Given the description of an element on the screen output the (x, y) to click on. 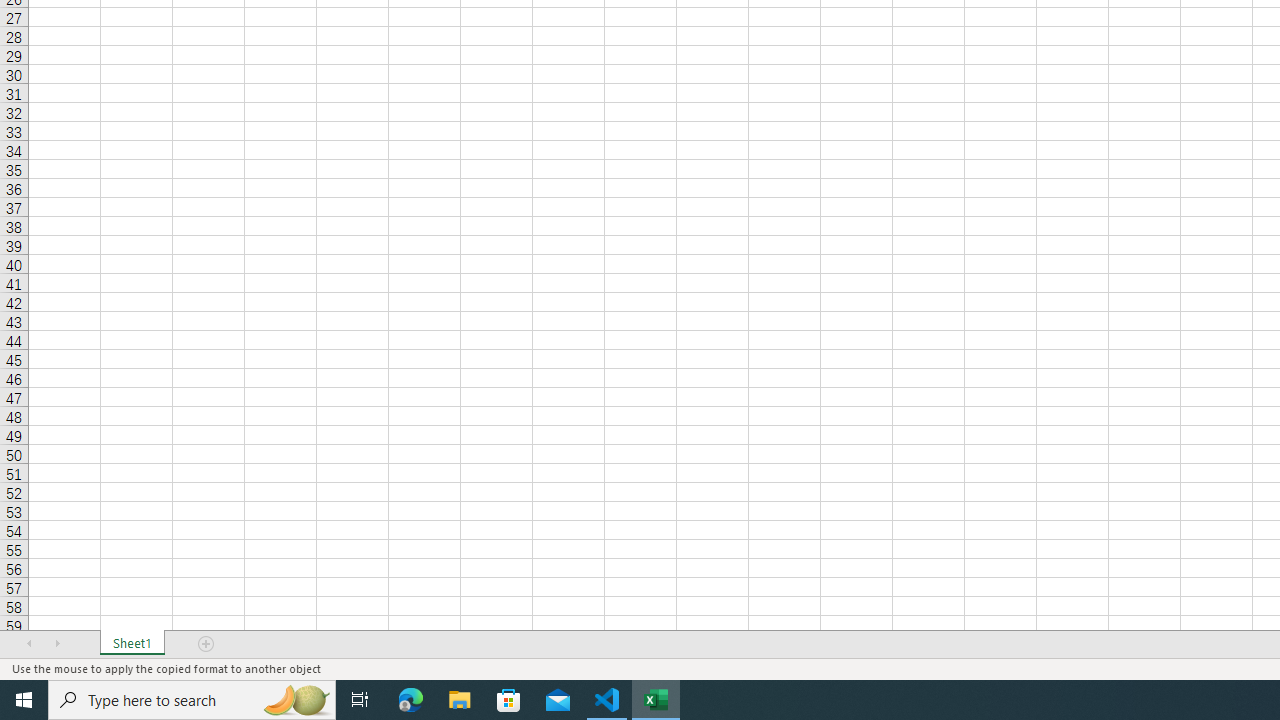
Scroll Left (29, 644)
Scroll Right (57, 644)
Add Sheet (207, 644)
Sheet1 (132, 644)
